Given the description of an element on the screen output the (x, y) to click on. 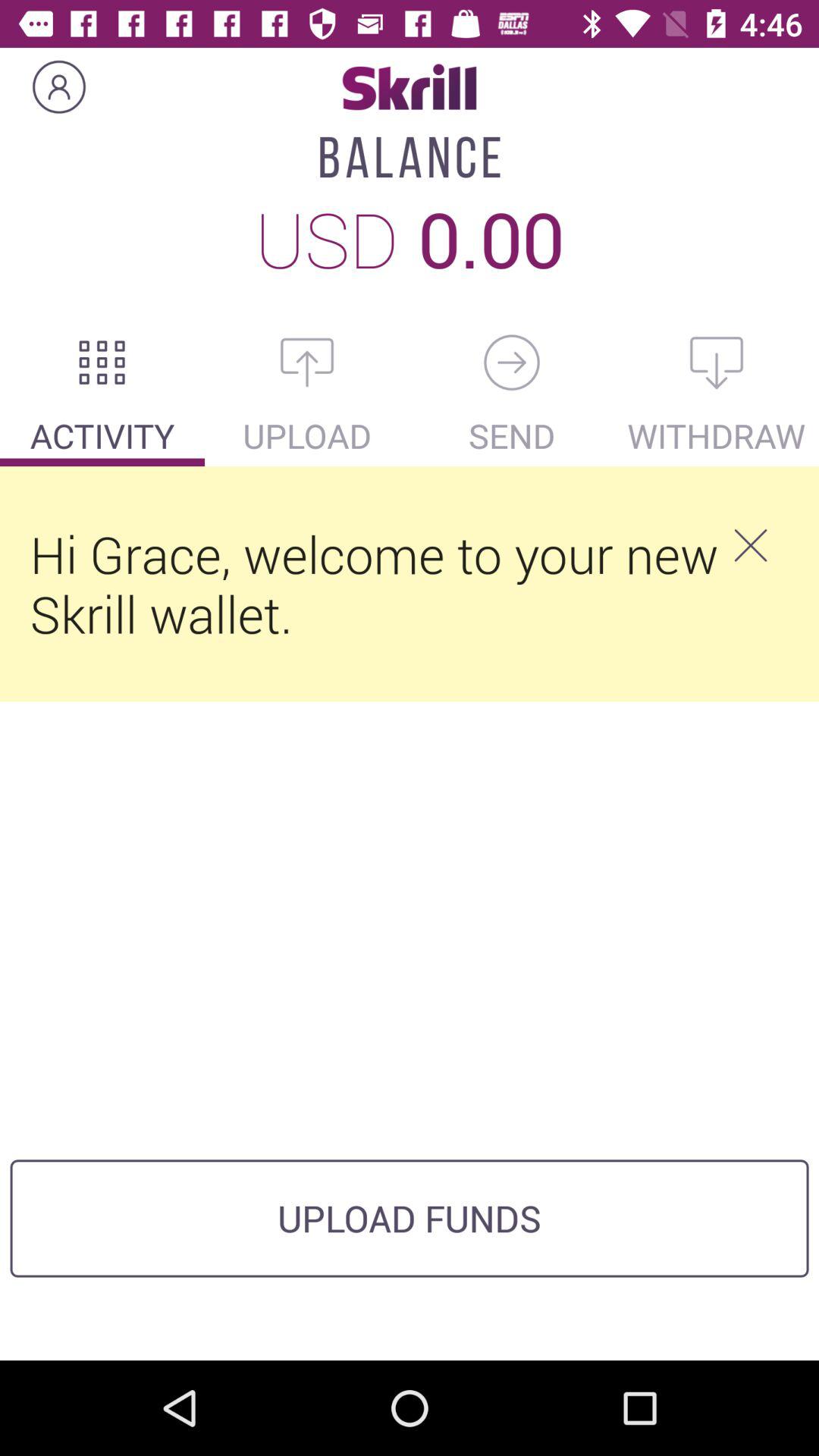
tap item above the activity (102, 362)
